Given the description of an element on the screen output the (x, y) to click on. 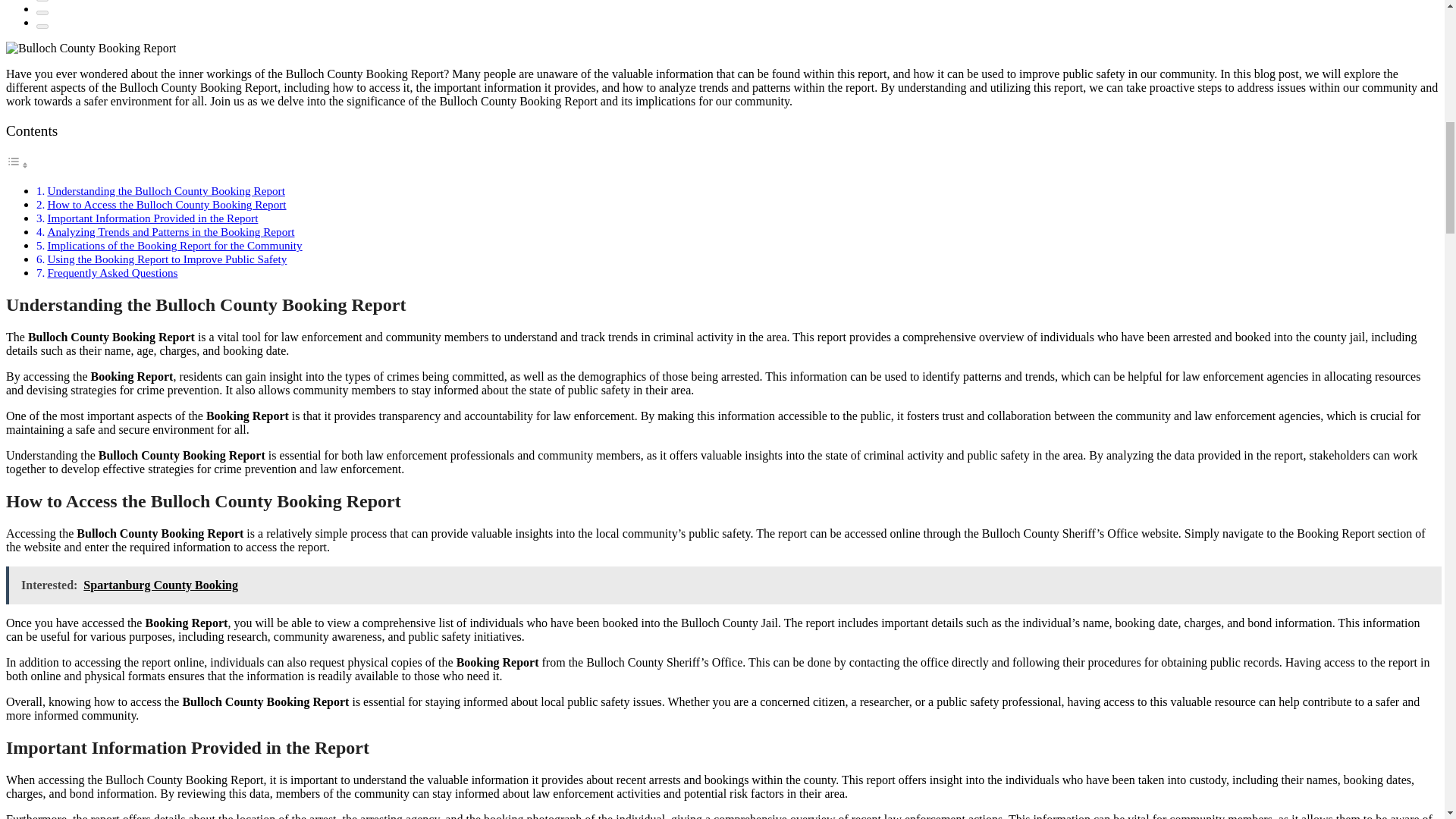
Important Information Provided in the Report (151, 217)
How to Access the Bulloch County Booking Report (165, 204)
Understanding the Bulloch County Booking Report (164, 190)
